Given the description of an element on the screen output the (x, y) to click on. 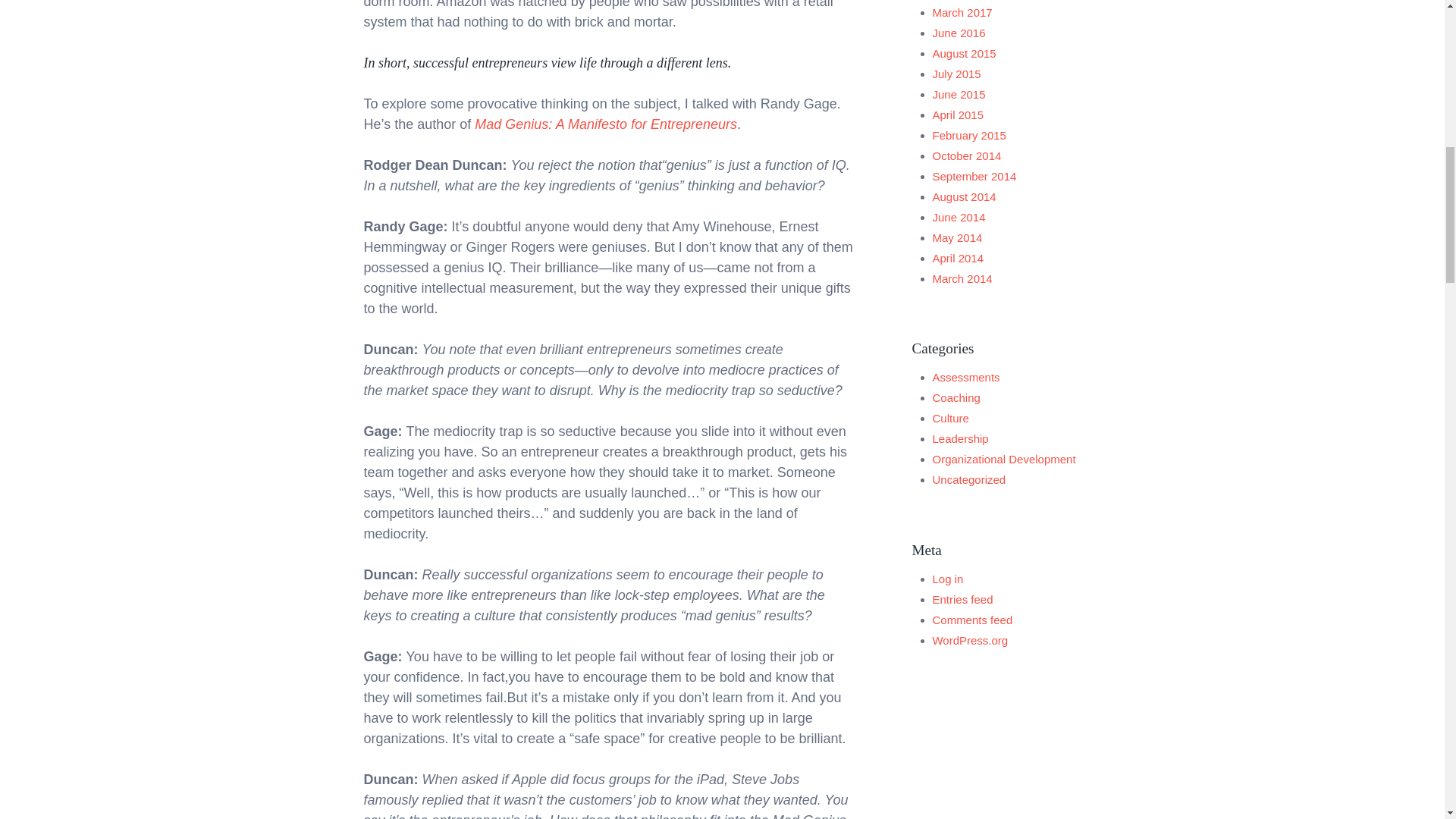
Mad Genius: A Manifesto for Entrepreneurs (605, 124)
